Given the description of an element on the screen output the (x, y) to click on. 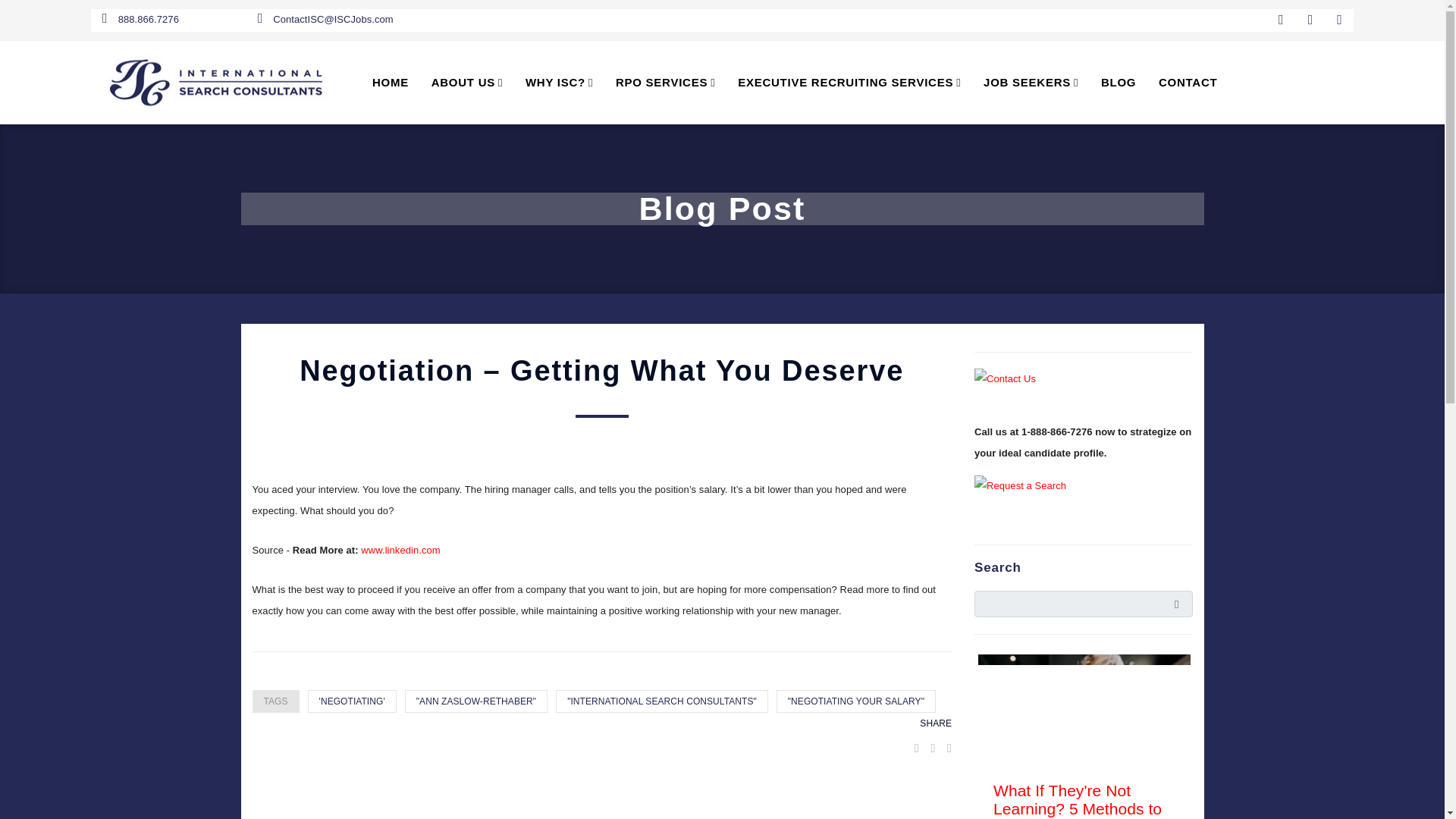
888.866.7276 (140, 19)
EXECUTIVE RECRUITING SERVICES (849, 82)
RPO SERVICES (665, 82)
